Given the description of an element on the screen output the (x, y) to click on. 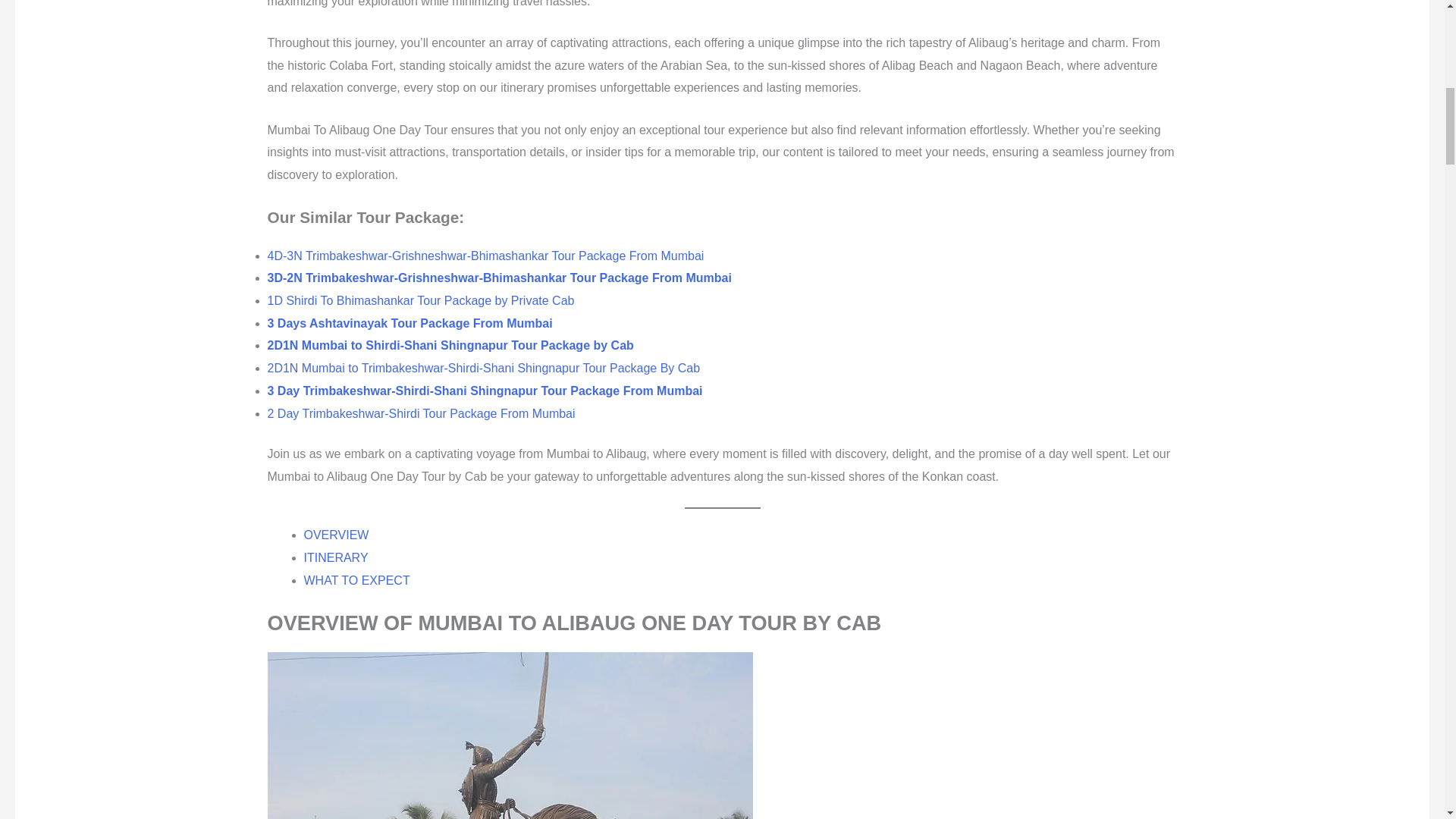
2 Day Trimbakeshwar-Shirdi Tour Package From Mumbai (420, 413)
ITINERARY (739, 558)
1D Shirdi To Bhimashankar Tour Package by Private Cab (419, 300)
3 Days Ashtavinayak Tour Package From Mumbai  (411, 323)
OVERVIEW (739, 535)
WHAT TO EXPECT (739, 580)
2D1N Mumbai to Shirdi-Shani Shingnapur Tour Package by Cab  (451, 345)
